Given the description of an element on the screen output the (x, y) to click on. 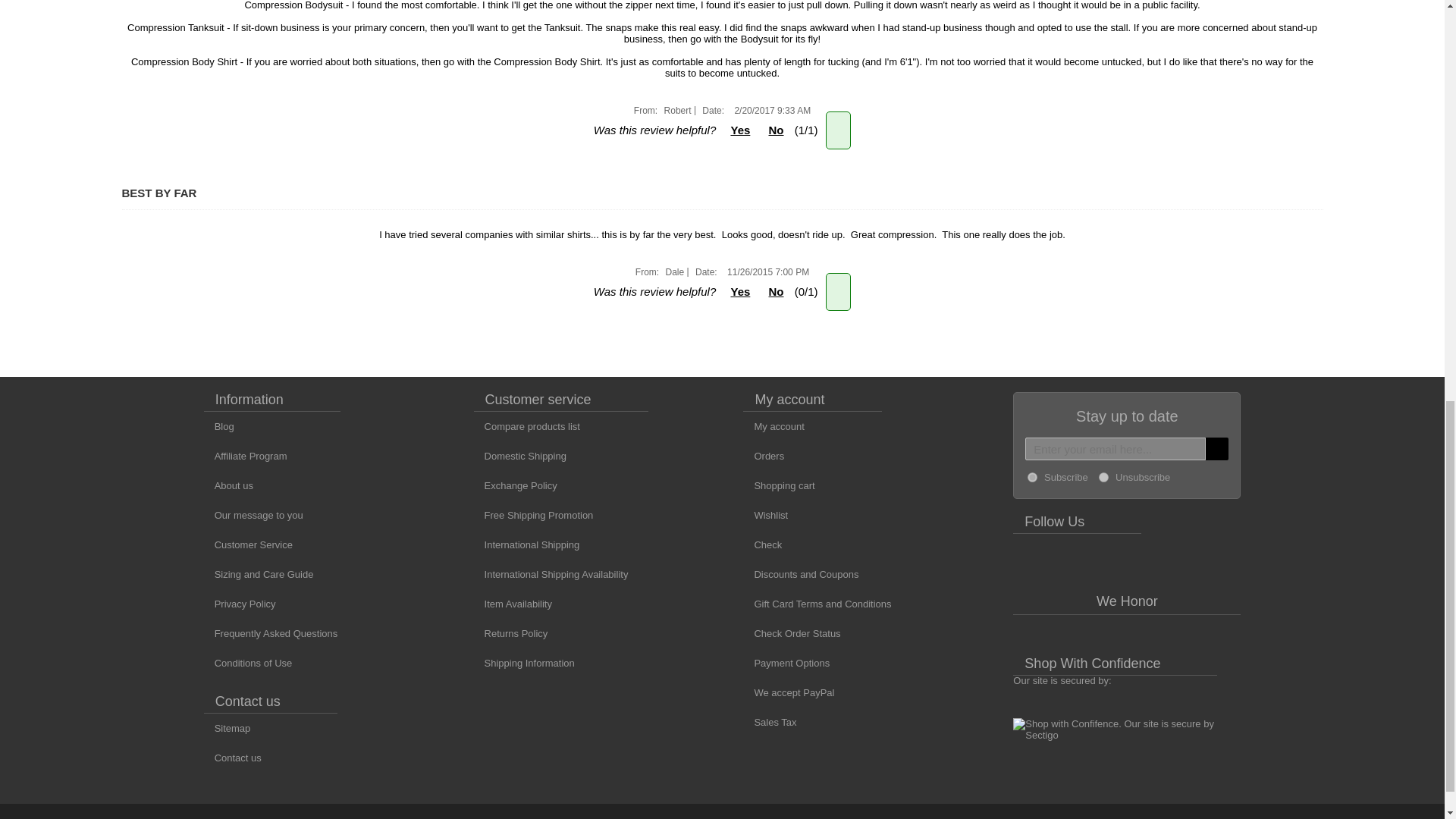
About us (228, 485)
Item Availability (512, 603)
Customer Service (247, 544)
My account (772, 426)
Privacy Policy (239, 603)
International Shipping (526, 544)
Blog (218, 426)
Frequently Asked Questions (270, 633)
Free Shipping Promotion (534, 515)
Contact us (232, 757)
